Given the description of an element on the screen output the (x, y) to click on. 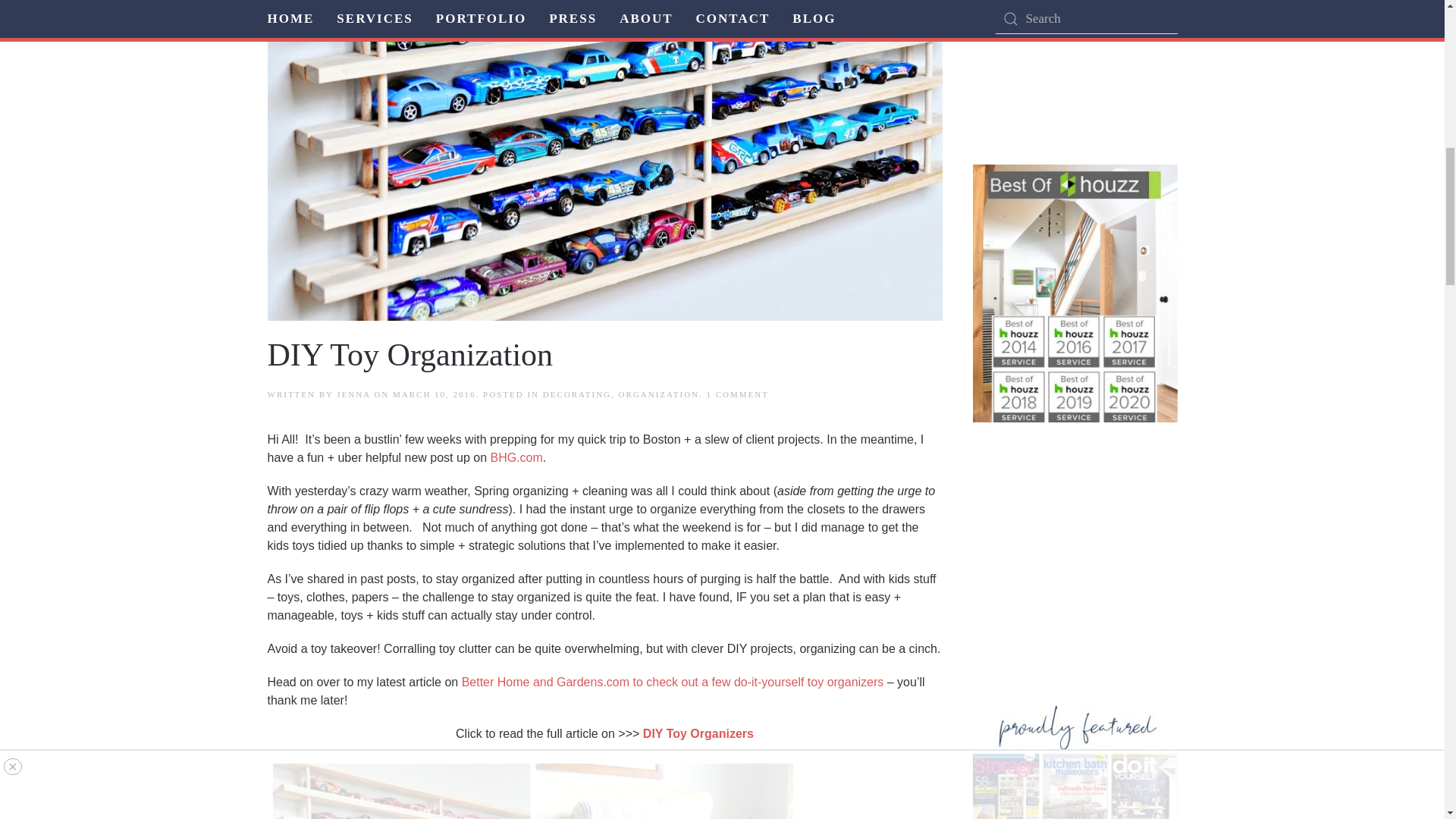
ORGANIZATION (659, 393)
JENNA (352, 393)
DIY Toy Organization (409, 354)
BHG.com (515, 457)
DECORATING (577, 393)
DIY Toy Organizers (737, 393)
